Given the description of an element on the screen output the (x, y) to click on. 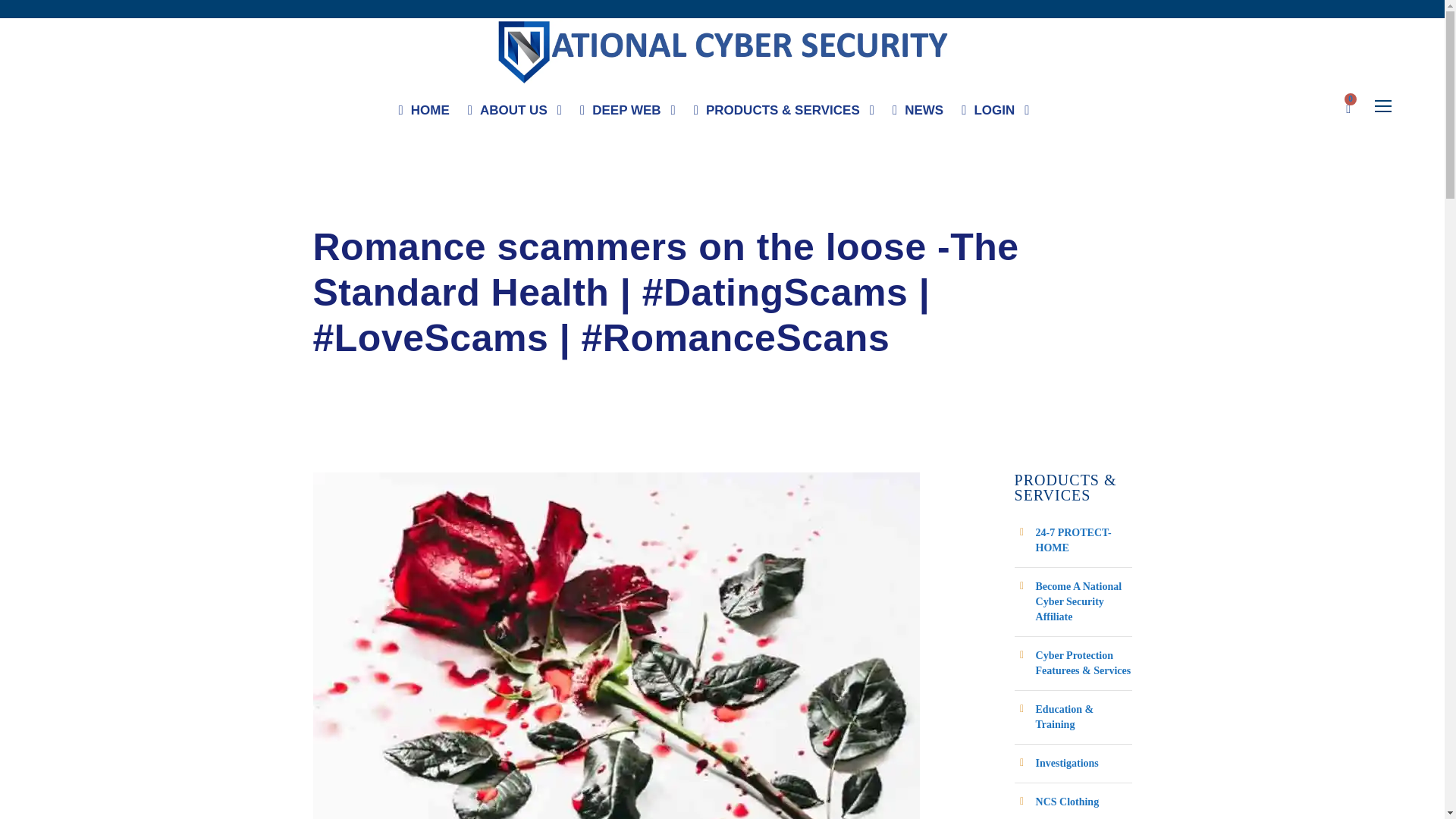
ABOUT US (514, 114)
DEEP WEB (627, 114)
HOME (423, 114)
Posts by admin (329, 211)
